Given the description of an element on the screen output the (x, y) to click on. 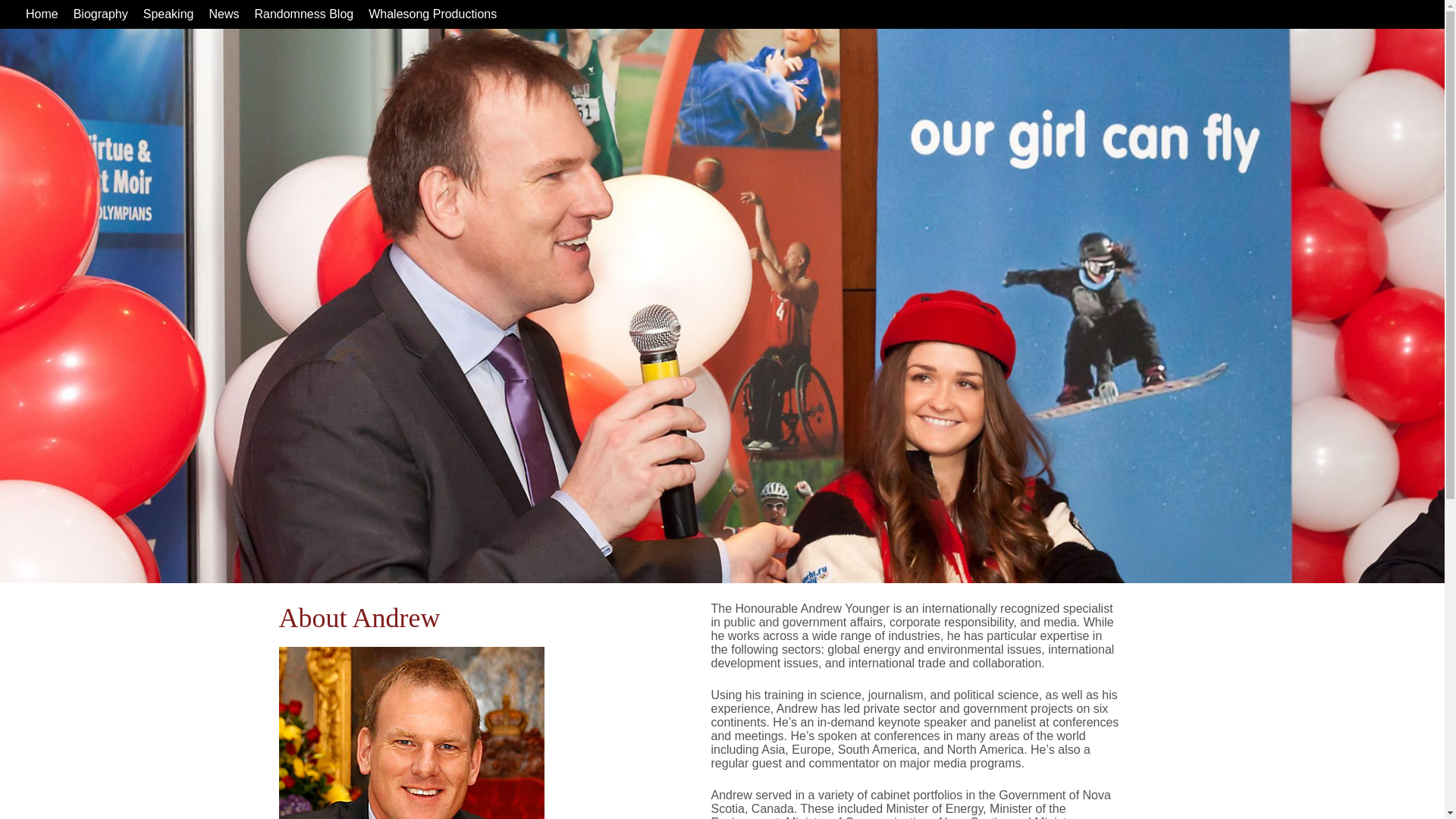
Whalesong Productions (432, 13)
Biography (101, 13)
Randomness Blog (303, 13)
News (223, 13)
Home (42, 13)
Speaking (167, 13)
